Given the description of an element on the screen output the (x, y) to click on. 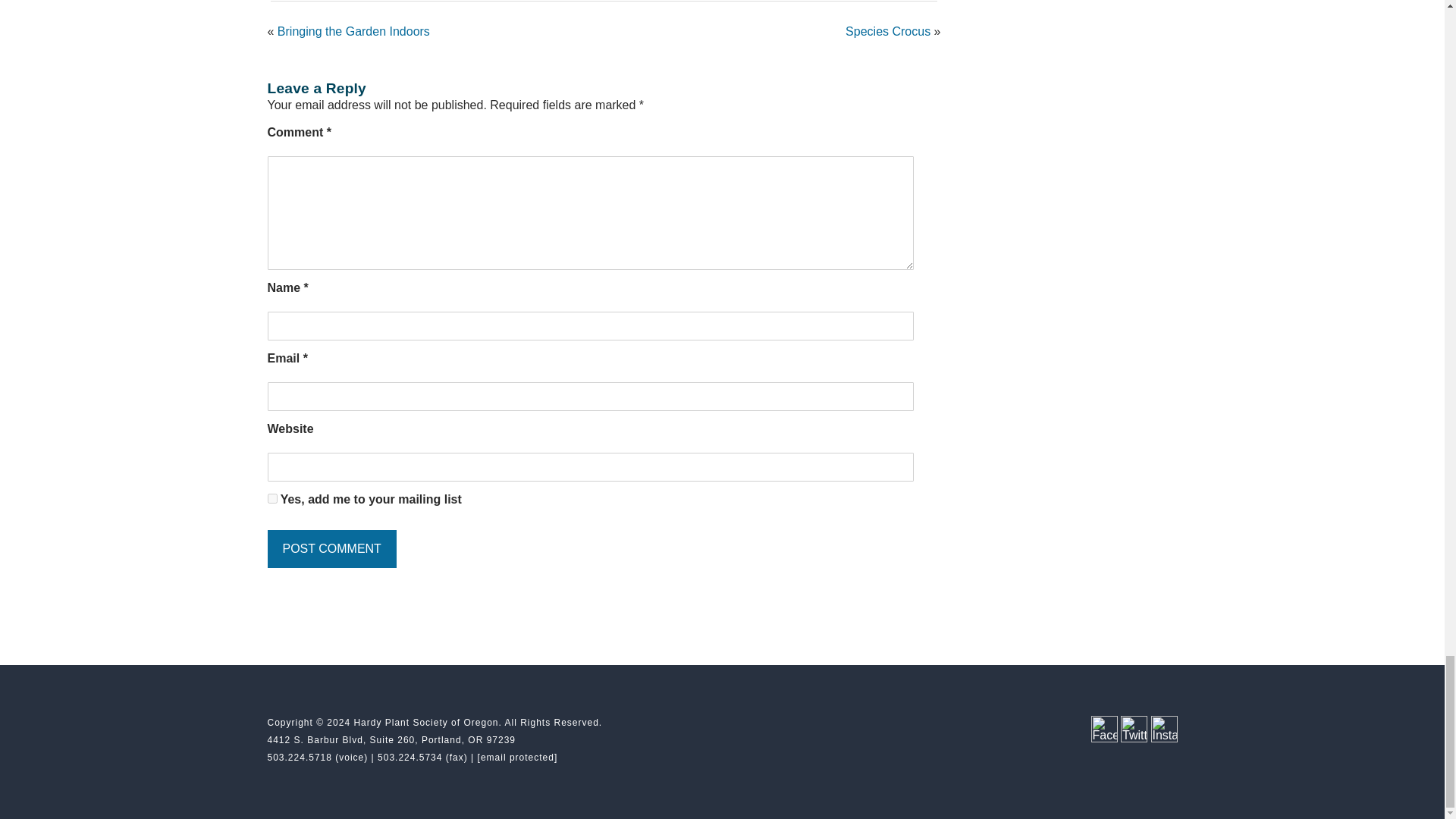
Species Crocus (887, 31)
Post Comment (331, 548)
Bringing the Garden Indoors (353, 31)
Post Comment (331, 548)
1 (271, 498)
